Given the description of an element on the screen output the (x, y) to click on. 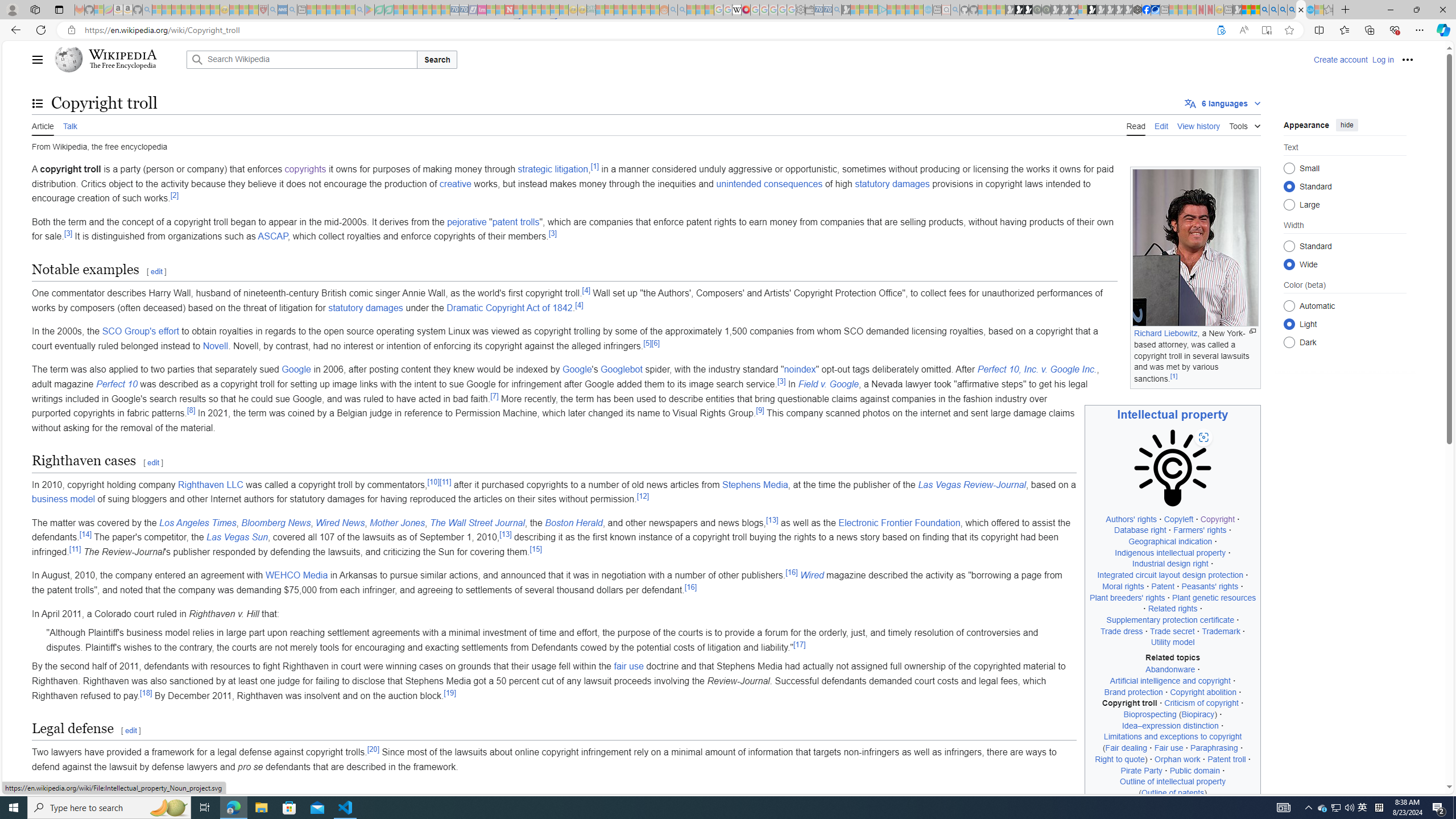
Criticism of copyright (1201, 703)
Patent troll (1226, 759)
Intellectual property (1172, 414)
[5] (647, 342)
[11] (74, 548)
[17] (799, 643)
[2] (174, 194)
Wikipedia (122, 54)
